Given the description of an element on the screen output the (x, y) to click on. 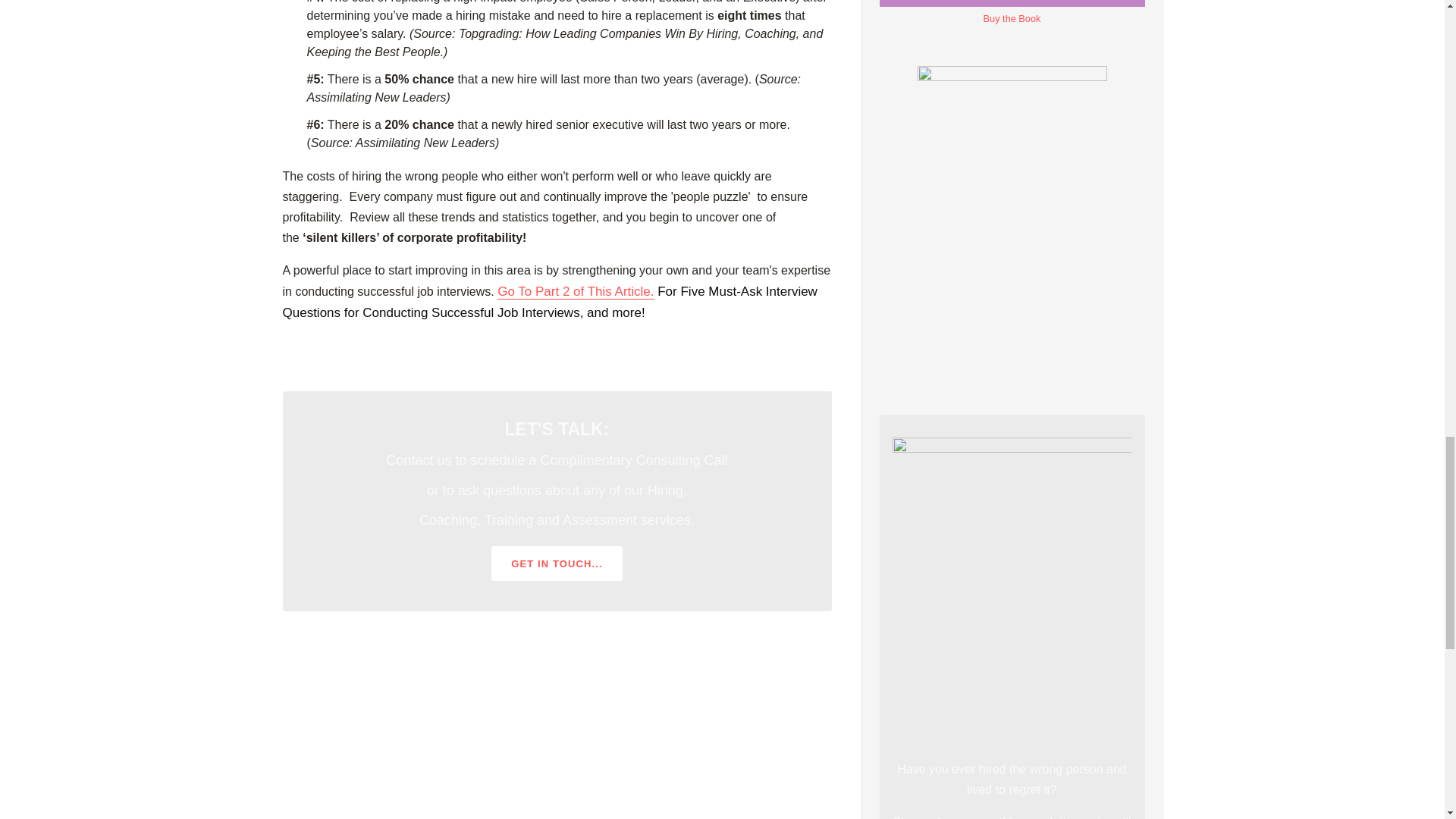
Go To Part 2 of This Article. (575, 291)
GET IN TOUCH... (556, 563)
Sign up for our monthly newsletter (986, 817)
Buy the Book (1011, 13)
